Given the description of an element on the screen output the (x, y) to click on. 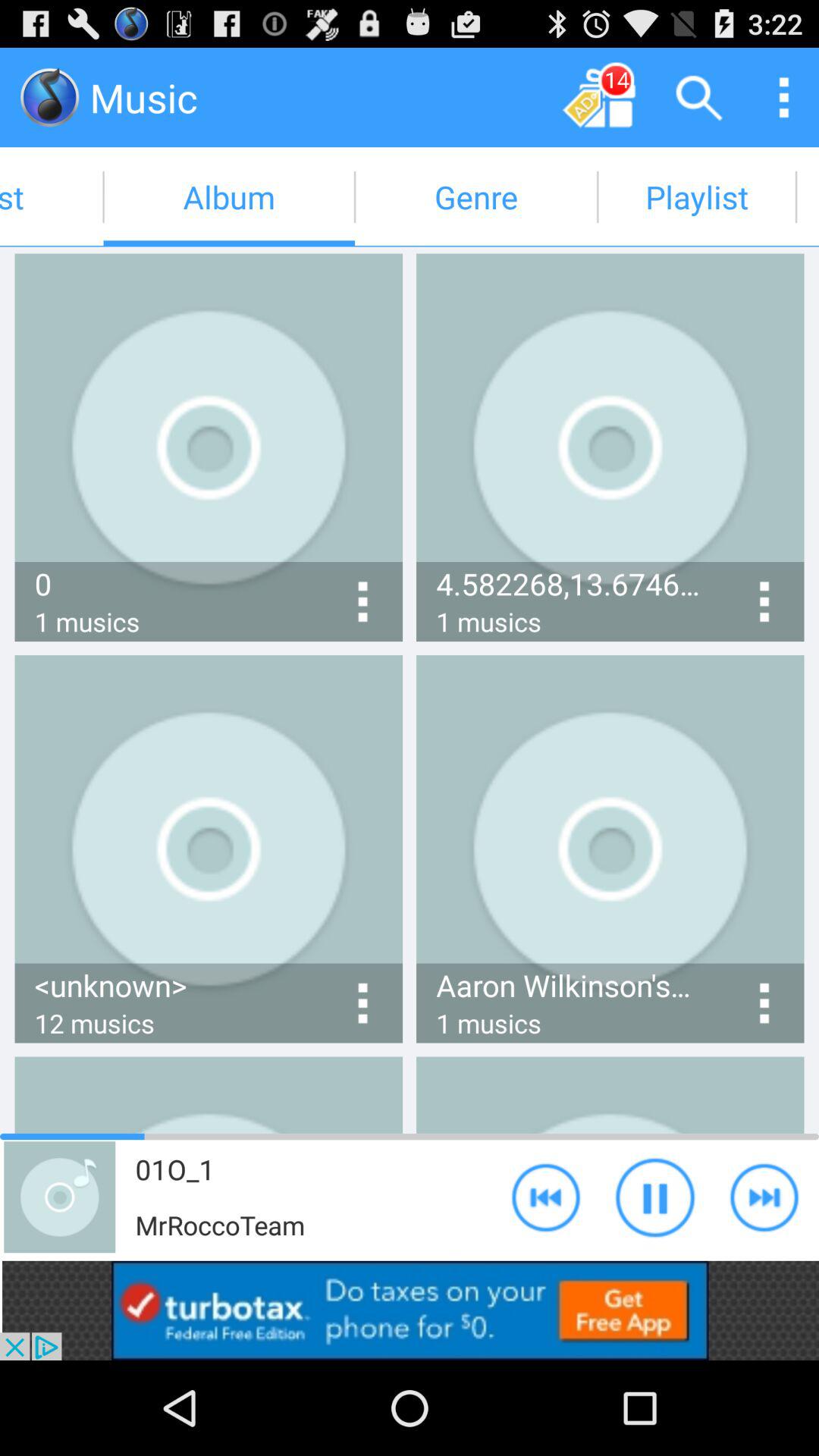
toggle menu (784, 97)
